Given the description of an element on the screen output the (x, y) to click on. 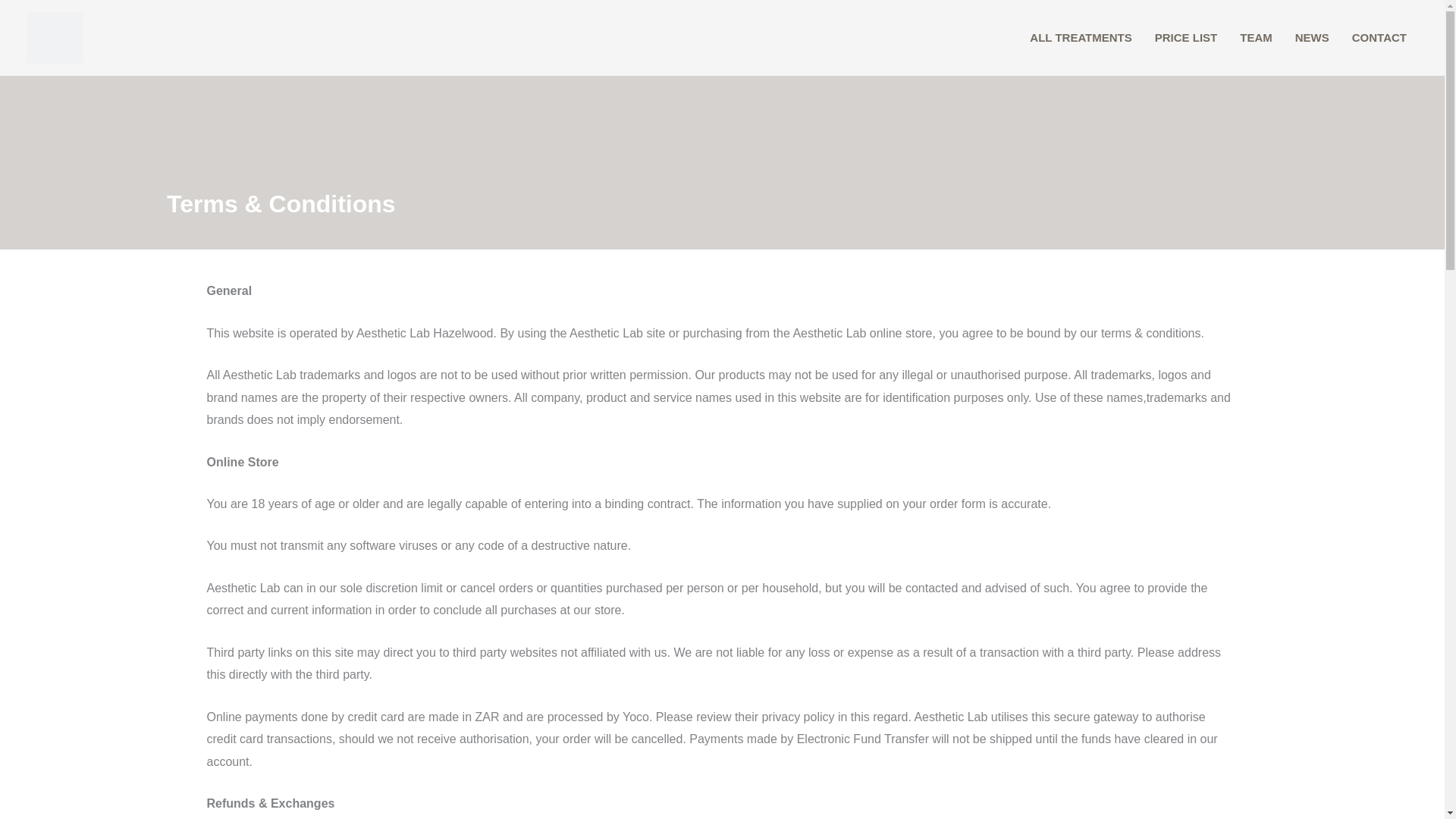
TEAM (1256, 37)
PRICE LIST (1185, 37)
NEWS (1312, 37)
CONTACT (1379, 37)
ALL TREATMENTS (1079, 37)
